Given the description of an element on the screen output the (x, y) to click on. 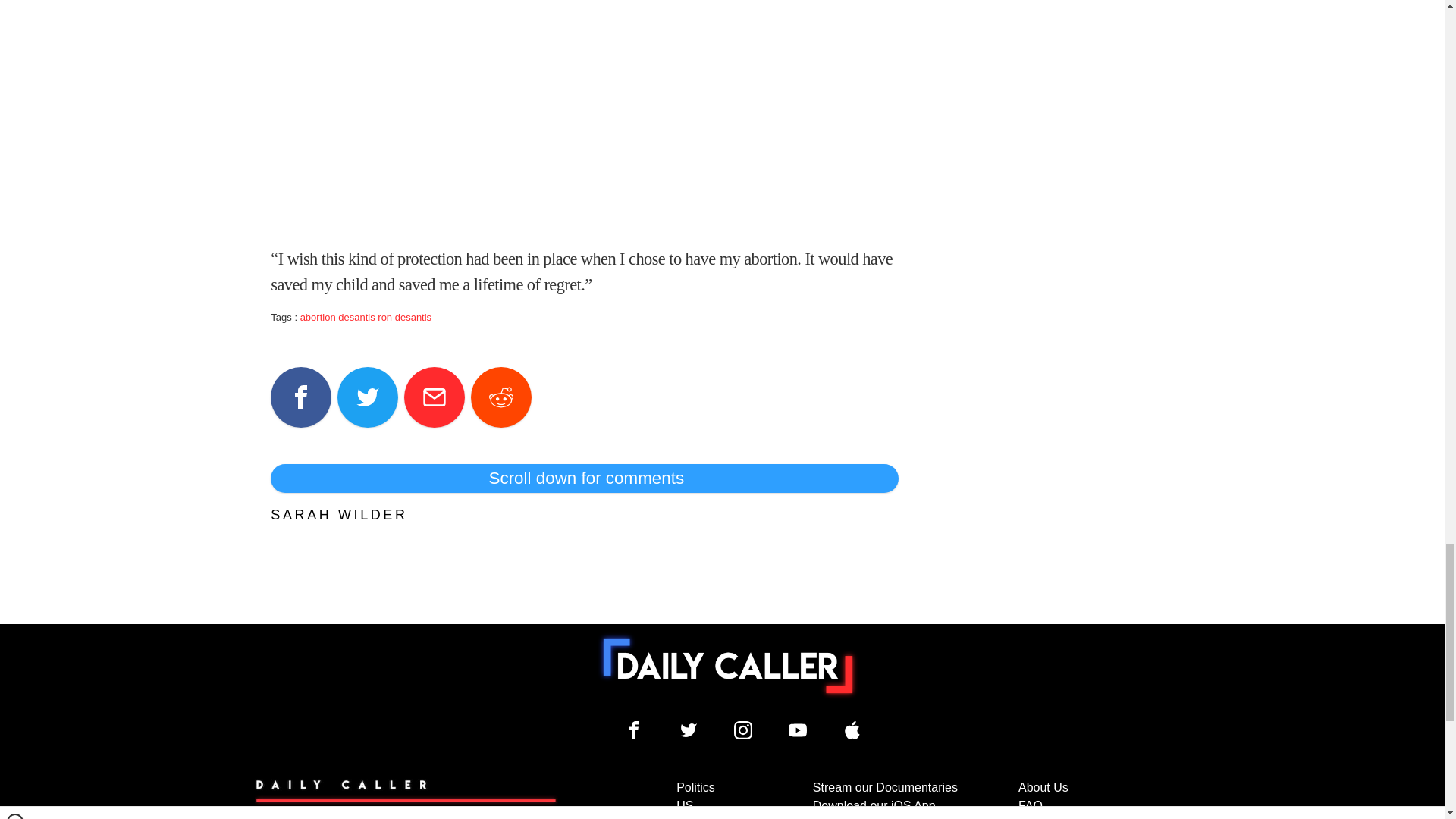
Daily Caller YouTube (852, 730)
Subscribe to The Daily Caller (405, 798)
Daily Caller YouTube (797, 730)
Scroll down for comments (584, 478)
Daily Caller Instagram (742, 730)
Daily Caller Twitter (688, 730)
Daily Caller Facebook (633, 730)
To home page (727, 665)
